Given the description of an element on the screen output the (x, y) to click on. 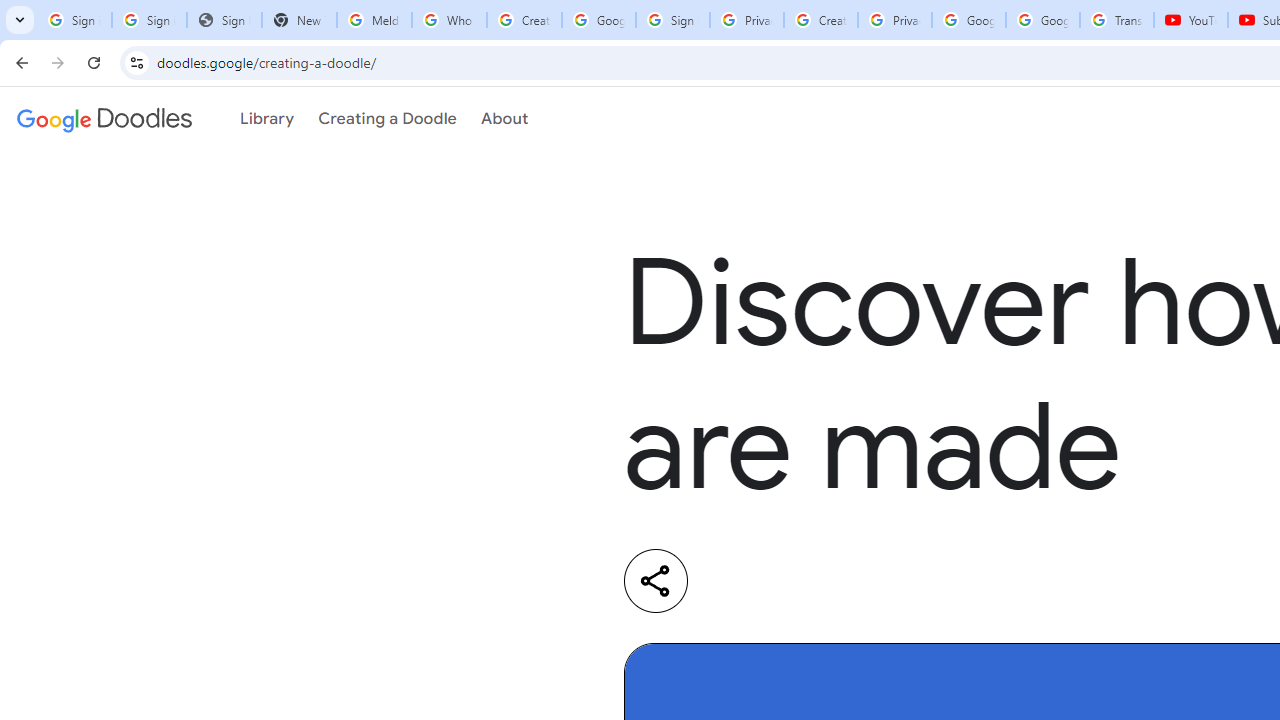
Share on facebook (900, 581)
Share (655, 580)
Google Account (1043, 20)
Create your Google Account (523, 20)
Creating a Doodle (387, 119)
Library (267, 119)
